Given the description of an element on the screen output the (x, y) to click on. 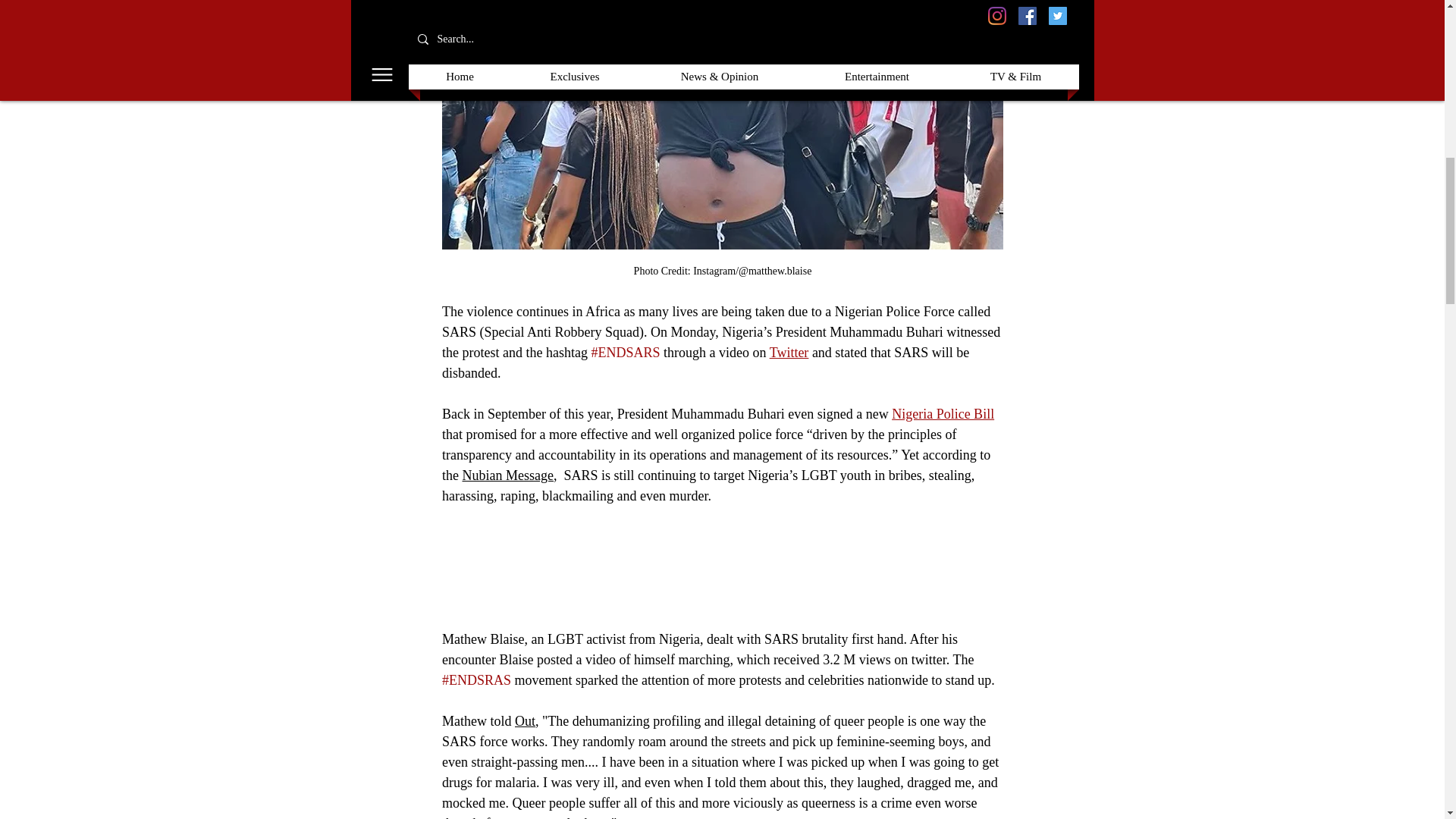
Out (523, 720)
Twitter (788, 352)
Nigeria Police Bill (942, 413)
Nubian Message (507, 475)
